Given the description of an element on the screen output the (x, y) to click on. 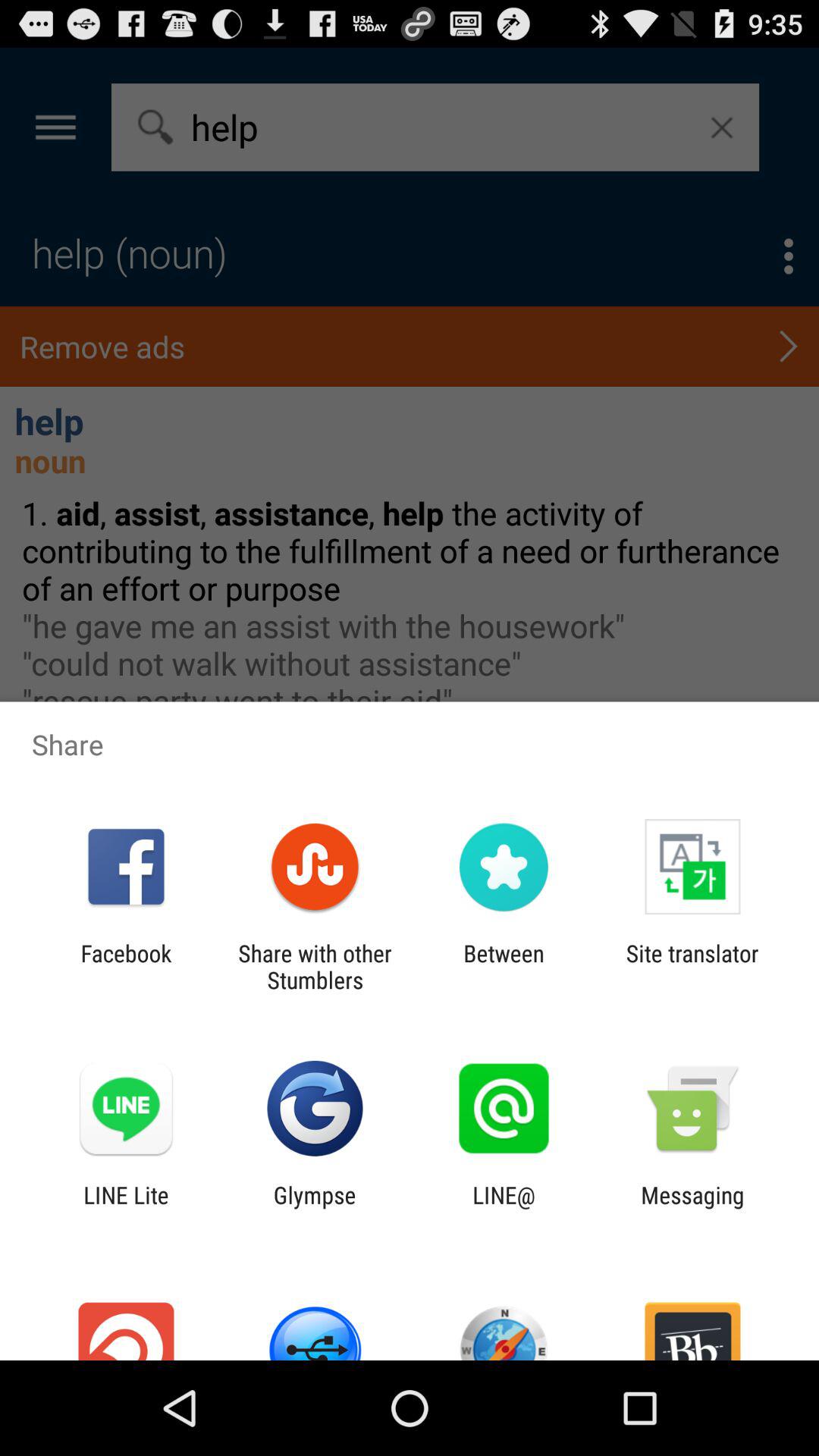
tap the app to the right of facebook icon (314, 966)
